Given the description of an element on the screen output the (x, y) to click on. 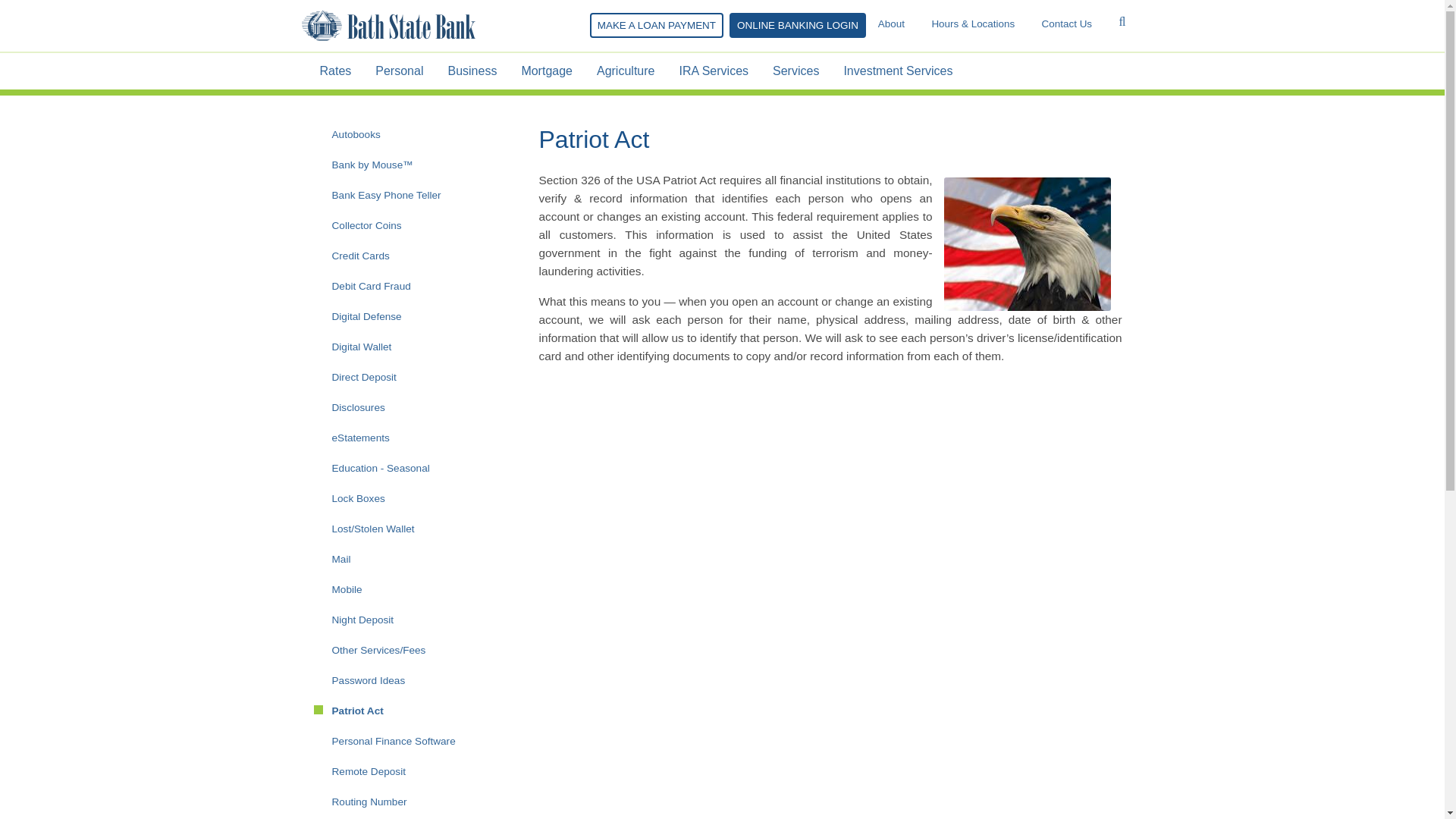
ONLINE BANKING LOGIN (797, 25)
MAKE A LOAN PAYMENT (656, 25)
Personal (398, 71)
mobile banking (401, 589)
Autobooks (401, 134)
digital wallet details (401, 347)
Business (471, 71)
Retired couple laughing on farm fence (713, 71)
About (893, 24)
Mortgage (546, 71)
Contact Us (1067, 24)
Rates (335, 71)
Interest rates for both lending and saving (335, 71)
